Given the description of an element on the screen output the (x, y) to click on. 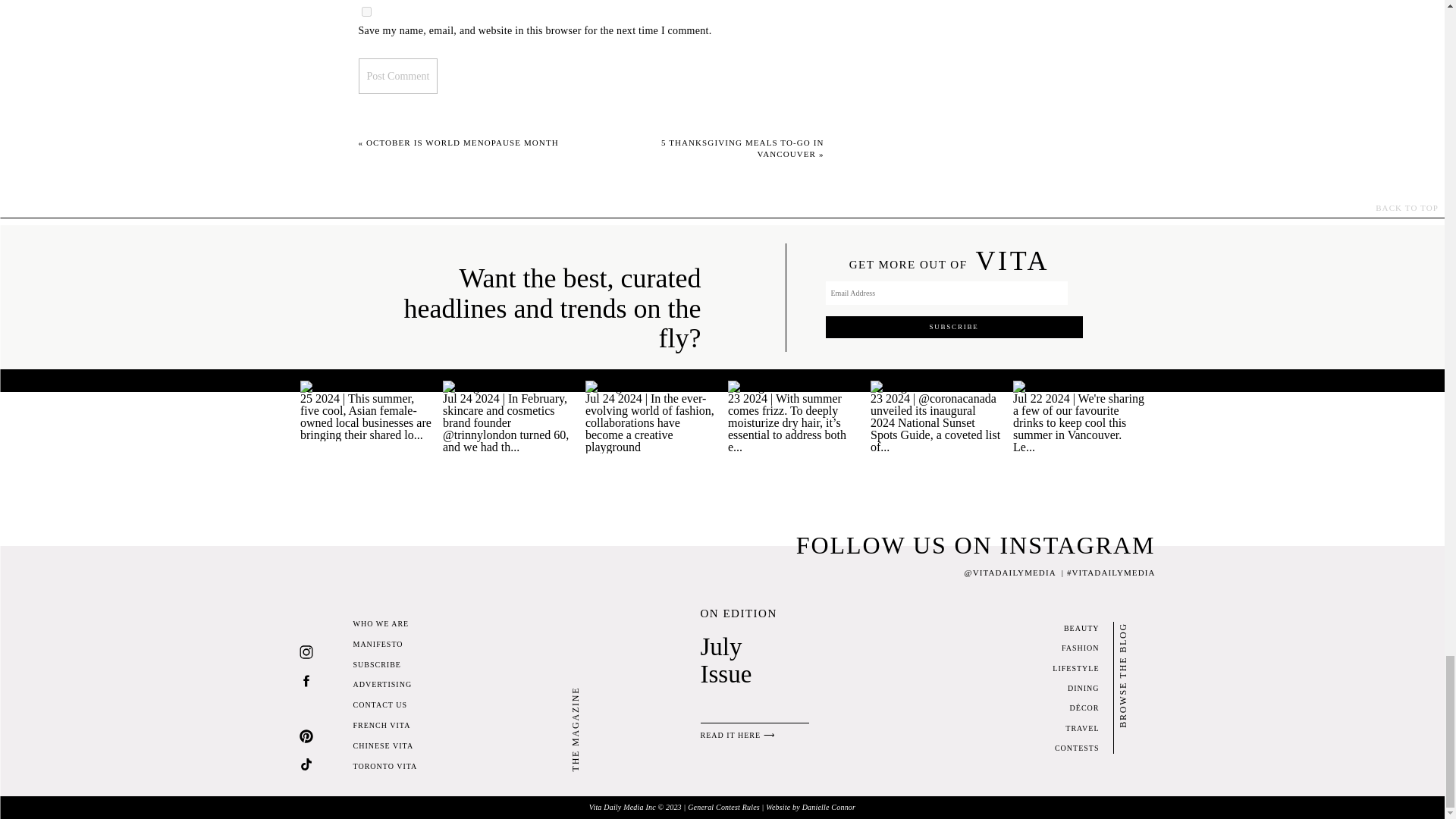
yes (366, 11)
Post Comment (398, 76)
Subscribe (953, 327)
